Given the description of an element on the screen output the (x, y) to click on. 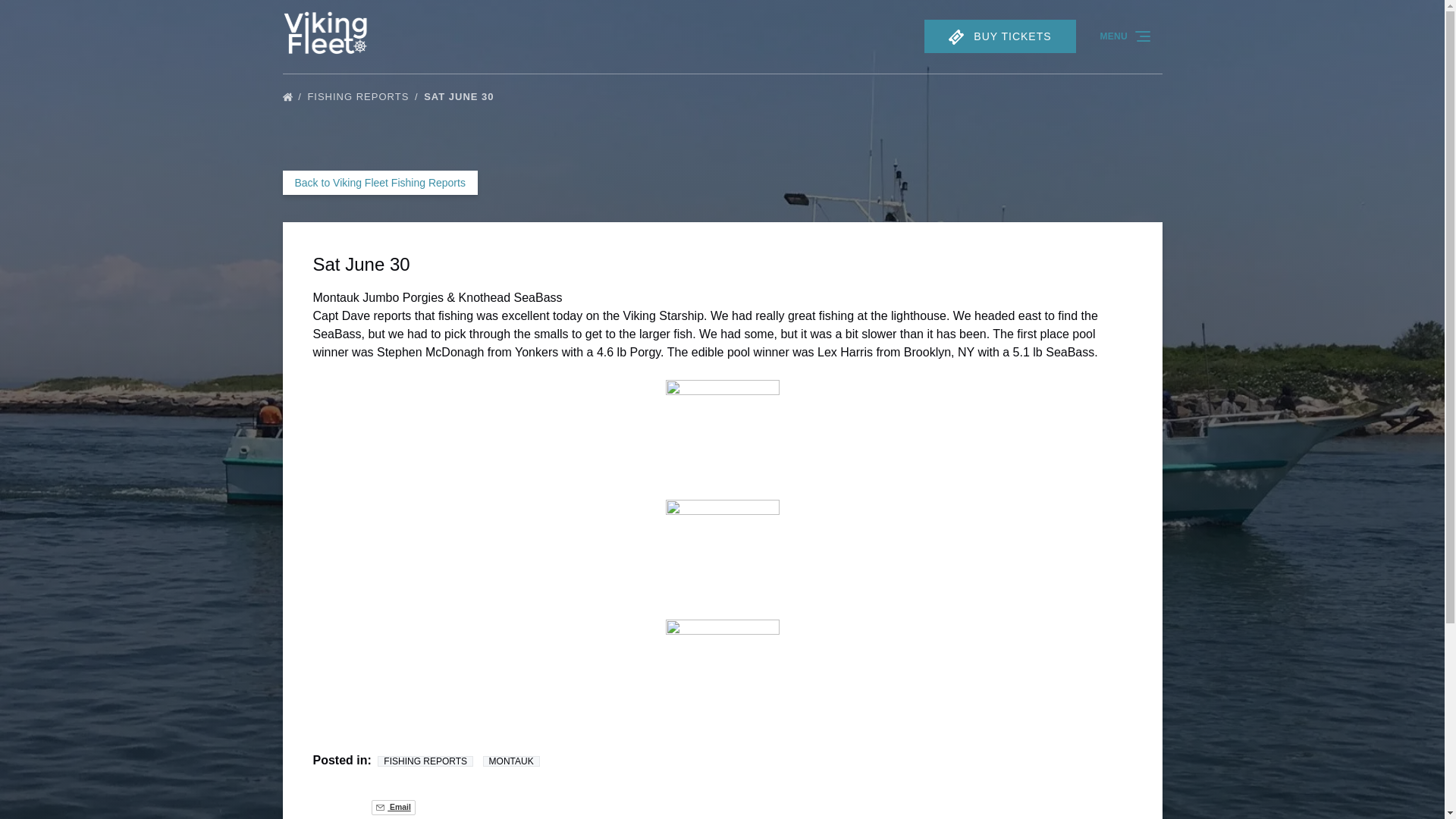
MENU (1125, 36)
Back to Viking Fleet Fishing Reports (379, 182)
Skip to footer (42, 16)
Skip to primary navigation (77, 16)
TICKET (956, 37)
SAT JUNE 30 (462, 96)
TICKET BUY TICKETS (999, 36)
FISHING REPORTS (363, 96)
FISHING REPORTS (425, 760)
Email (392, 807)
